Given the description of an element on the screen output the (x, y) to click on. 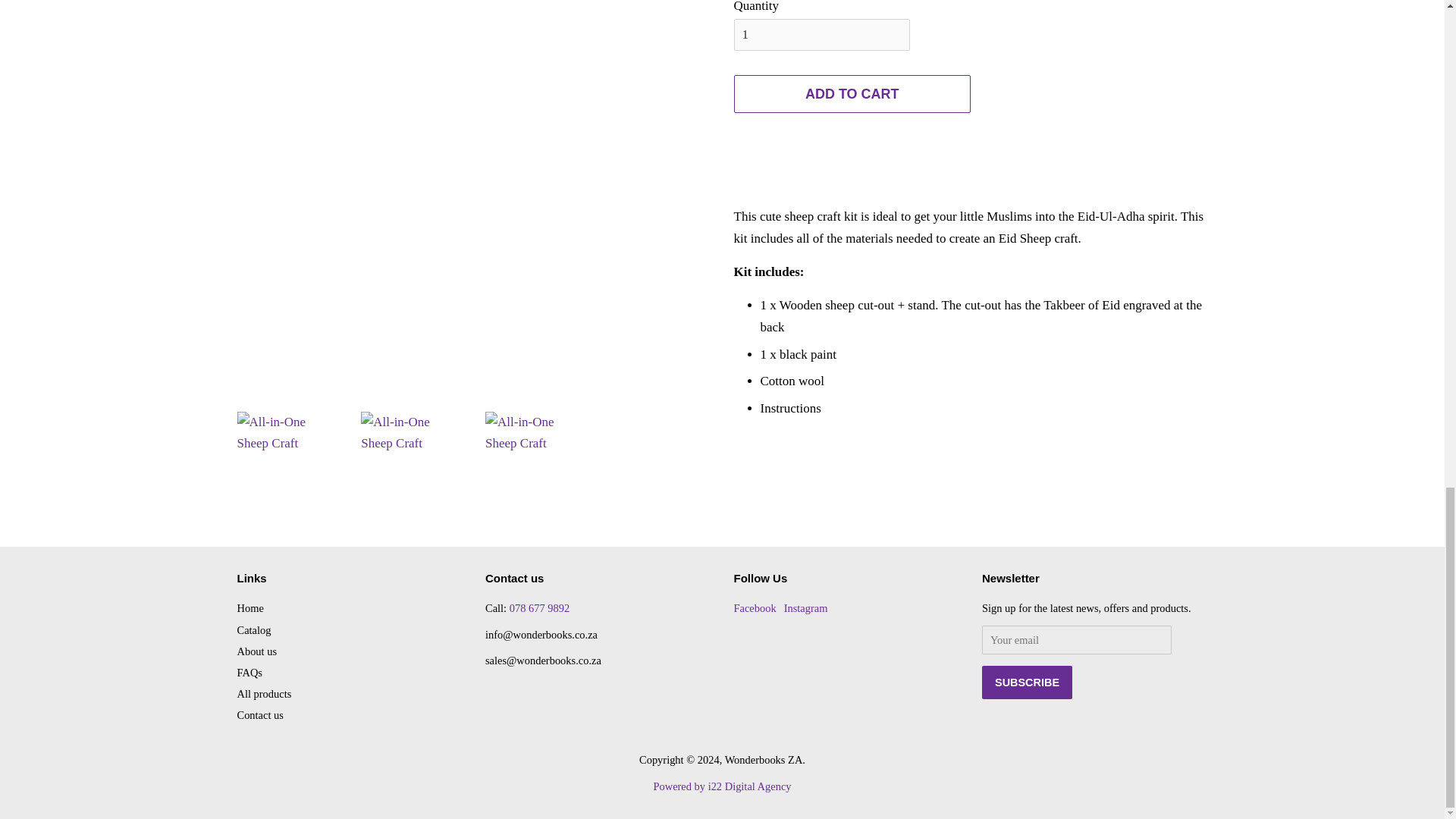
1 (821, 34)
Facebook (754, 607)
Subscribe (1026, 682)
Wonderbooks ZA on Facebook (754, 607)
Subscribe (1026, 682)
ADD TO CART (852, 94)
Catalog (252, 630)
About us (255, 651)
Wonderbooks ZA on Instagram (806, 607)
Contact us (258, 715)
